Given the description of an element on the screen output the (x, y) to click on. 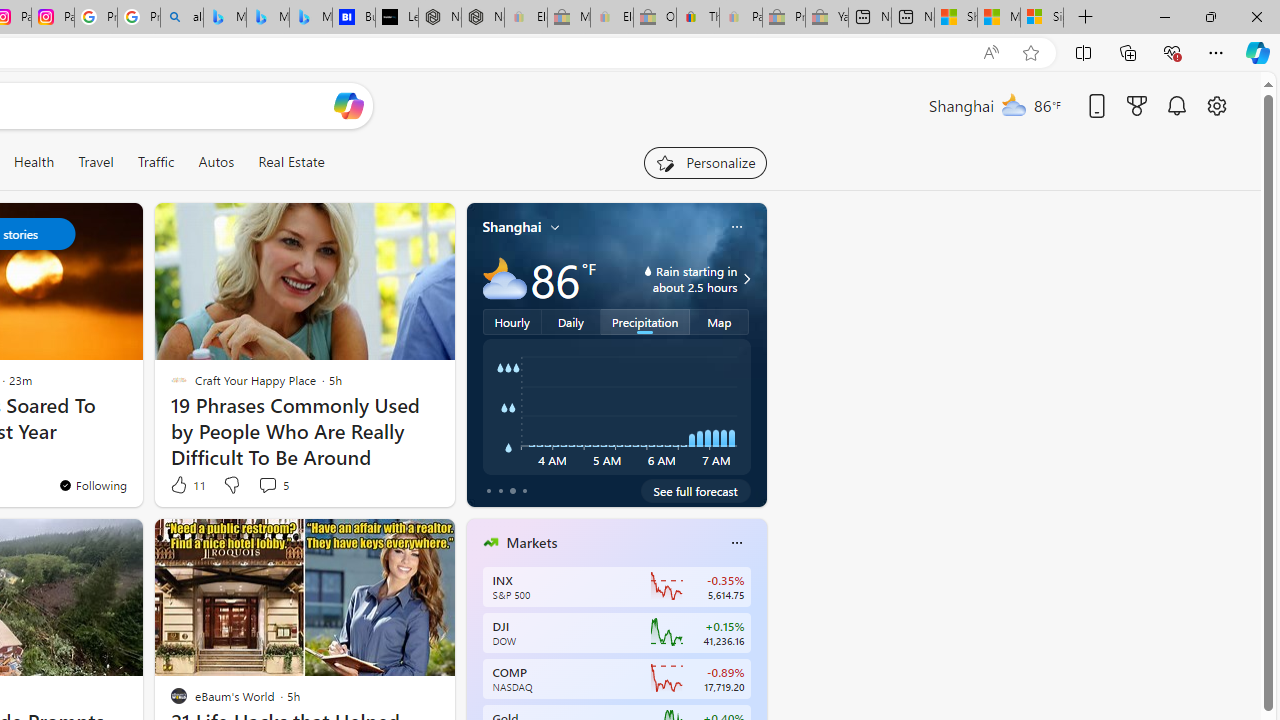
Personalize your feed" (704, 162)
Press Room - eBay Inc. - Sleeping (783, 17)
Hide this story (393, 542)
Real Estate (291, 161)
Yard, Garden & Outdoor Living - Sleeping (827, 17)
